Given the description of an element on the screen output the (x, y) to click on. 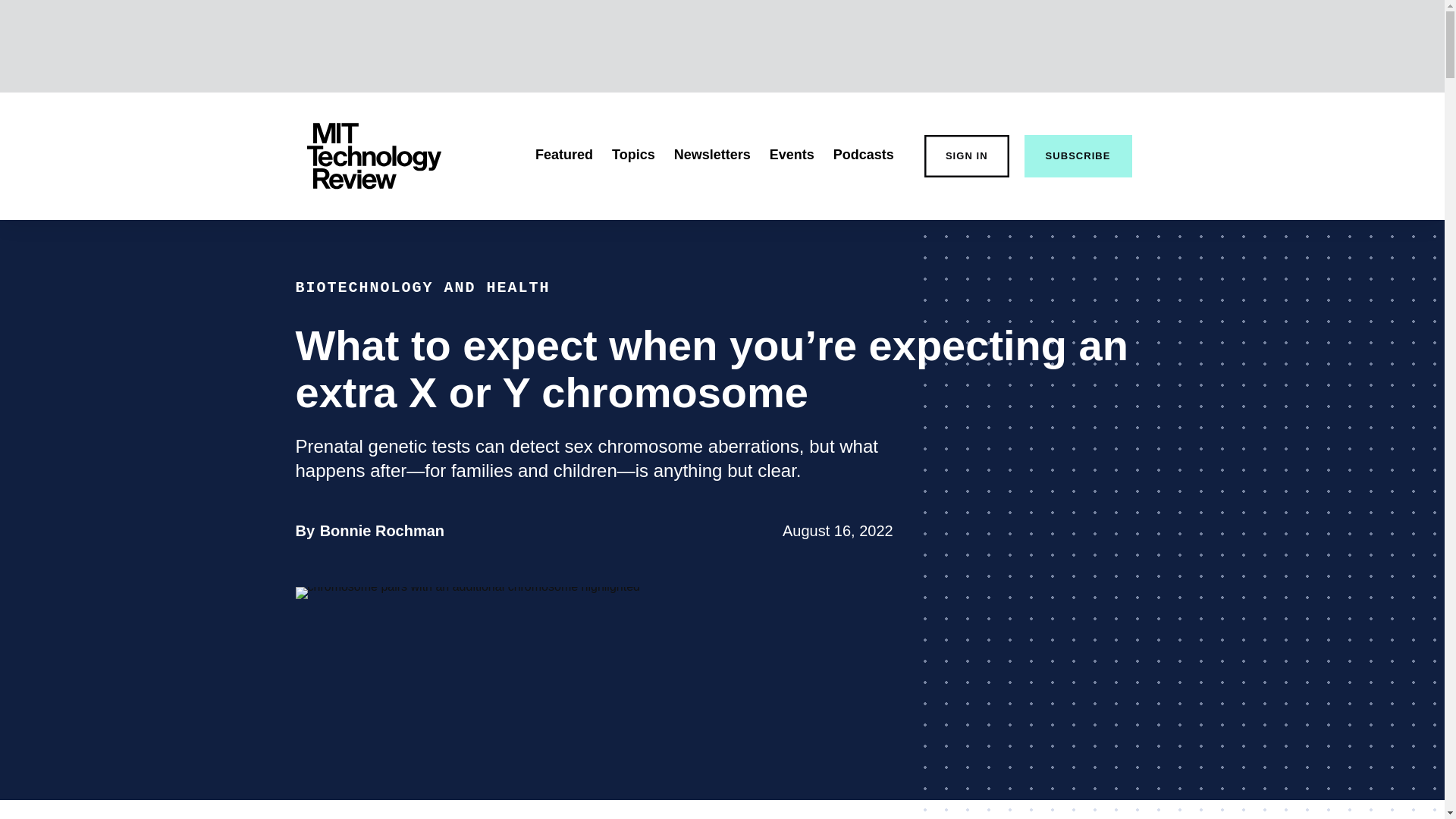
Events (382, 530)
Newsletters (791, 154)
Featured (712, 154)
Podcasts (563, 154)
SIGN IN (862, 154)
Topics (966, 156)
BIOTECHNOLOGY AND HEALTH (633, 154)
SUBSCRIBE (422, 287)
MIT Technology Review (1078, 156)
